Given the description of an element on the screen output the (x, y) to click on. 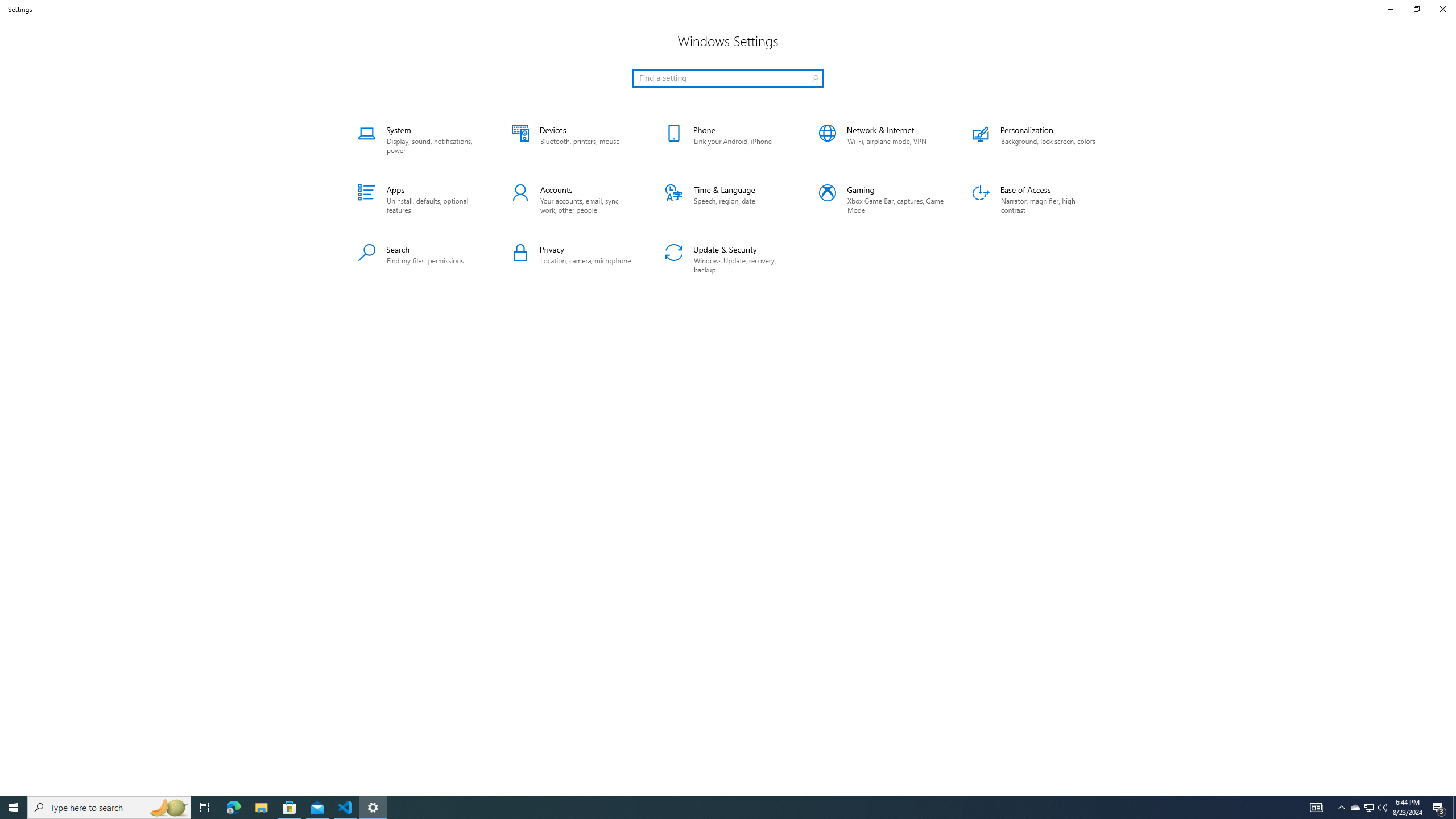
Ease of Access (1034, 200)
Close Settings (1442, 9)
Search (420, 259)
Network & Internet (881, 140)
Phone (727, 140)
Update & Security (727, 259)
Restore Settings (1416, 9)
Search box, Find a setting (727, 78)
System (420, 140)
Accounts (574, 200)
Devices (574, 140)
Privacy (574, 259)
Personalization (1034, 140)
Time & Language (727, 200)
